Given the description of an element on the screen output the (x, y) to click on. 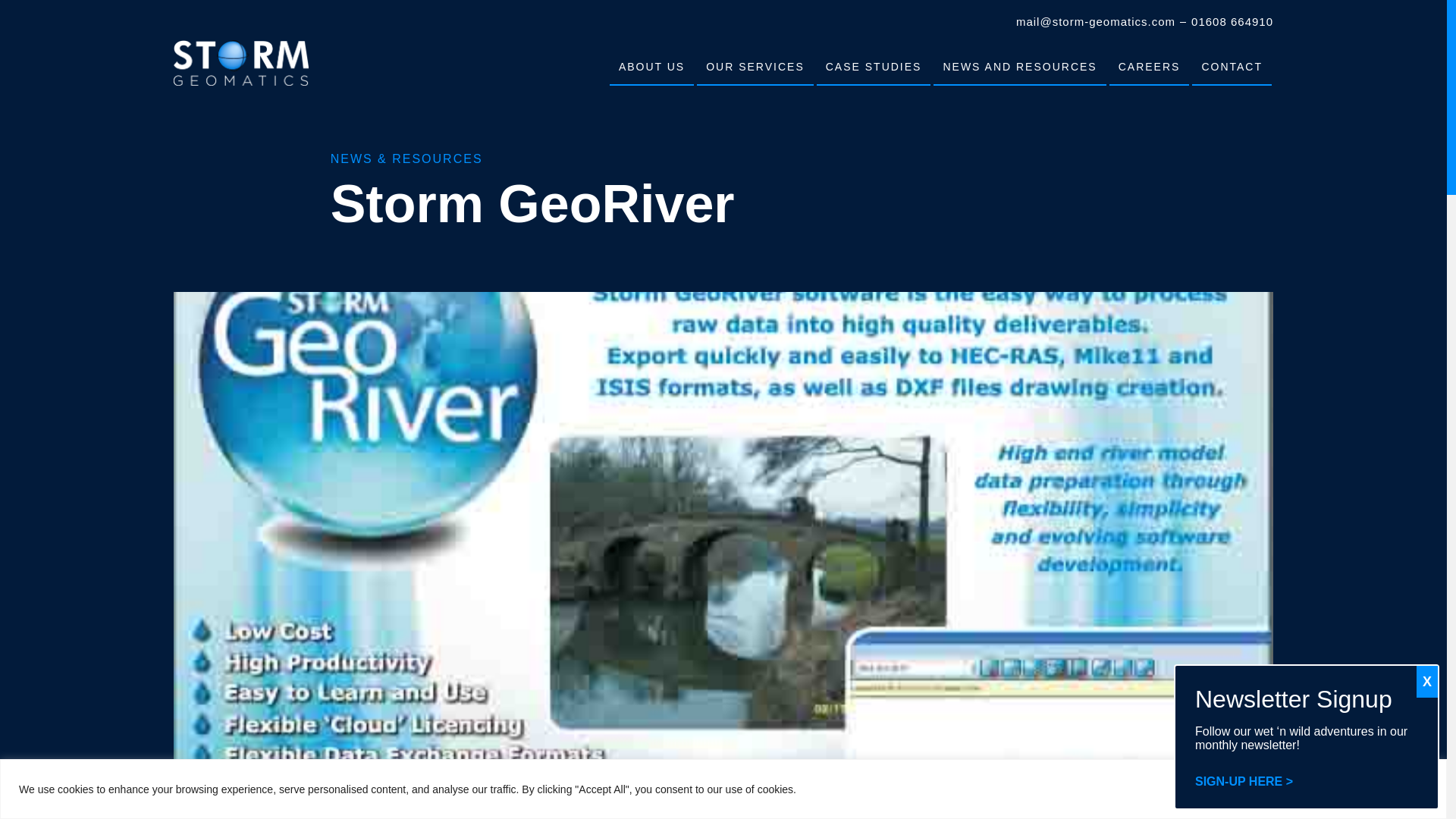
CASE STUDIES (874, 66)
Accept All (1383, 788)
NEWS AND RESOURCES (1018, 66)
OUR SERVICES (755, 66)
01608 664910 (1231, 21)
Reject All (1286, 788)
